Given the description of an element on the screen output the (x, y) to click on. 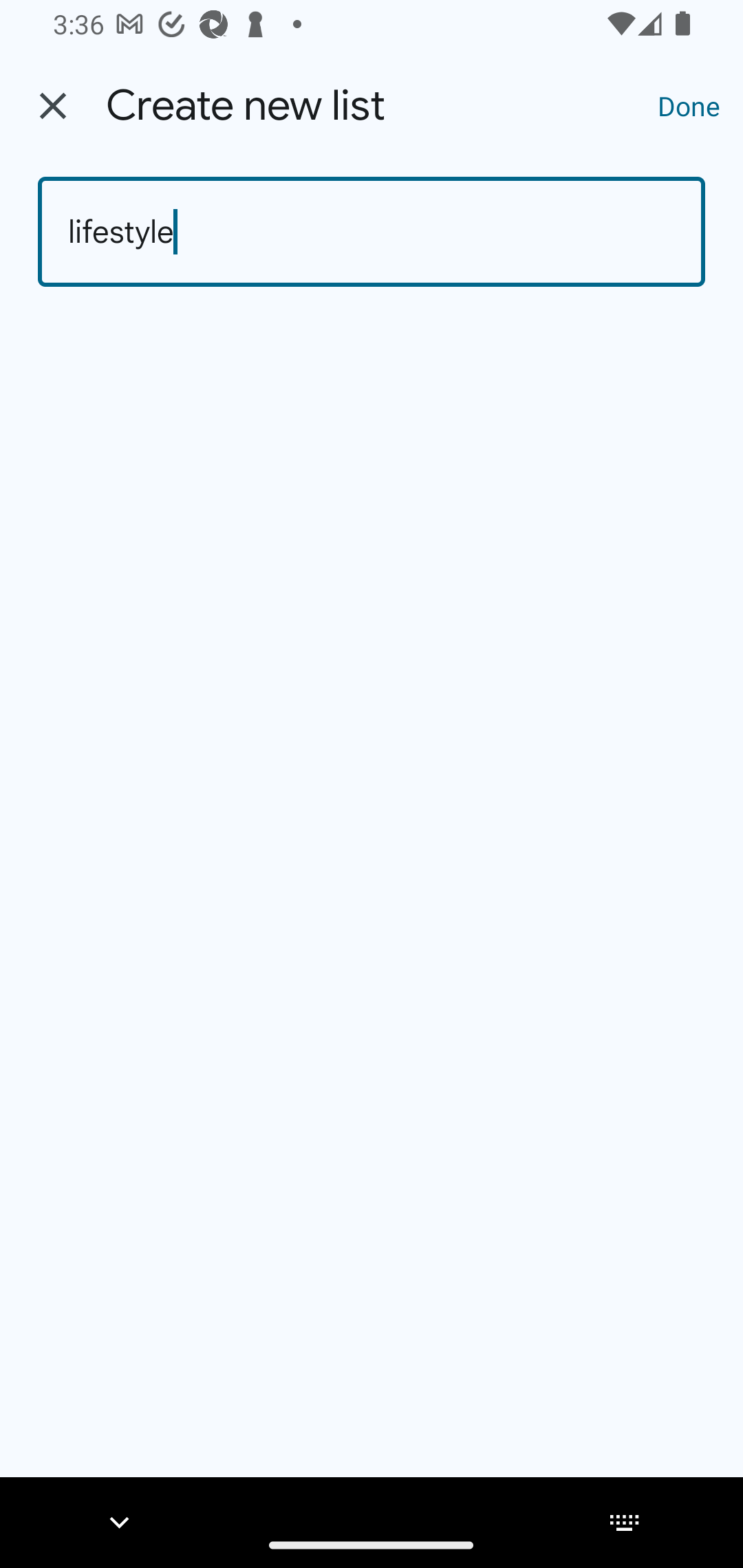
Back (53, 105)
Done (689, 105)
lifestyle (371, 231)
